Given the description of an element on the screen output the (x, y) to click on. 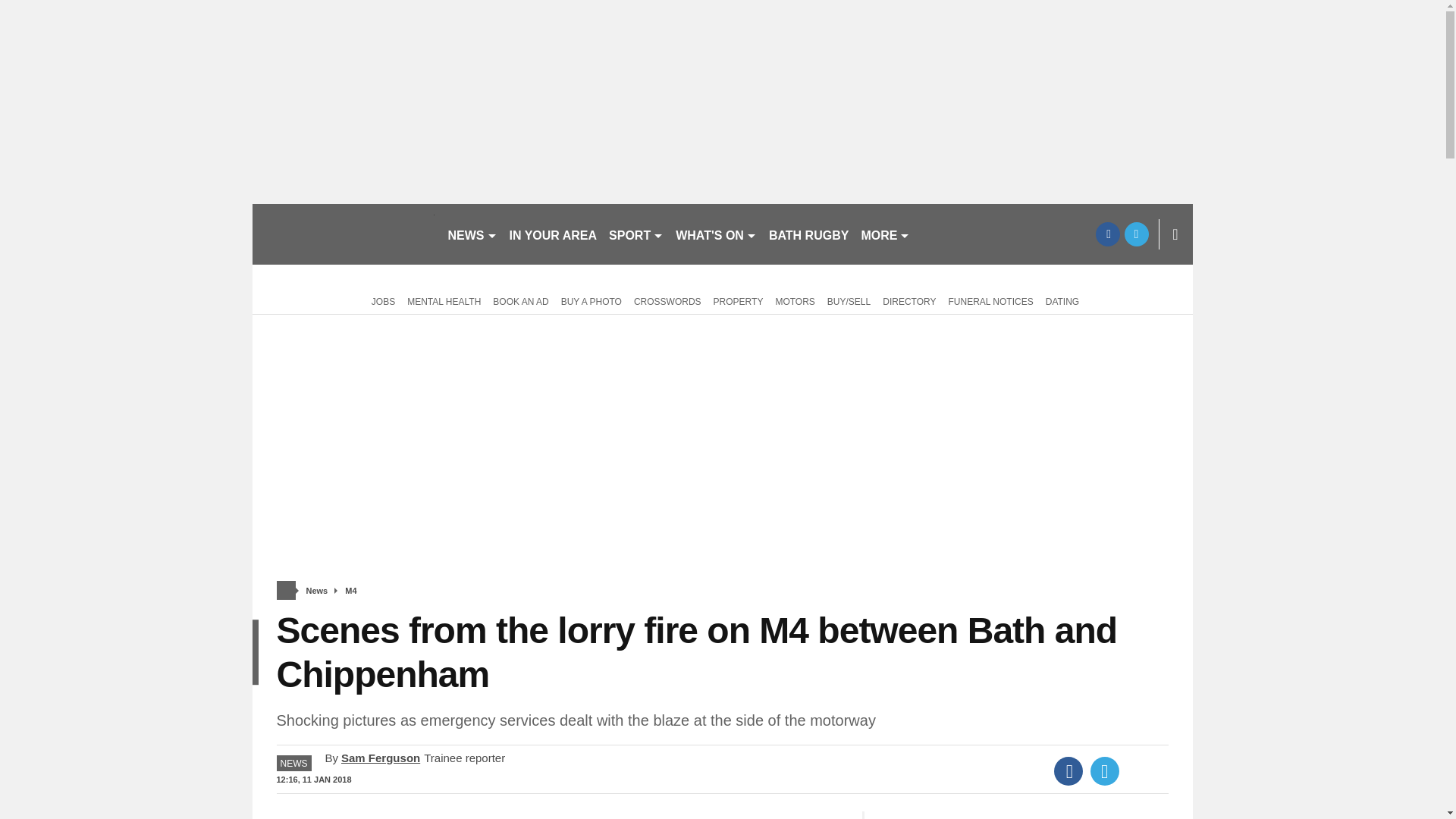
MENTAL HEALTH (443, 300)
twitter (1136, 233)
JOBS (380, 300)
CROSSWORDS (667, 300)
SPORT (635, 233)
BOOK AN AD (520, 300)
IN YOUR AREA (553, 233)
BATH RUGBY (808, 233)
facebook (1106, 233)
bathchronicle (342, 233)
NEWS (471, 233)
Twitter (1104, 770)
WHAT'S ON (715, 233)
BUY A PHOTO (590, 300)
Facebook (1068, 770)
